Given the description of an element on the screen output the (x, y) to click on. 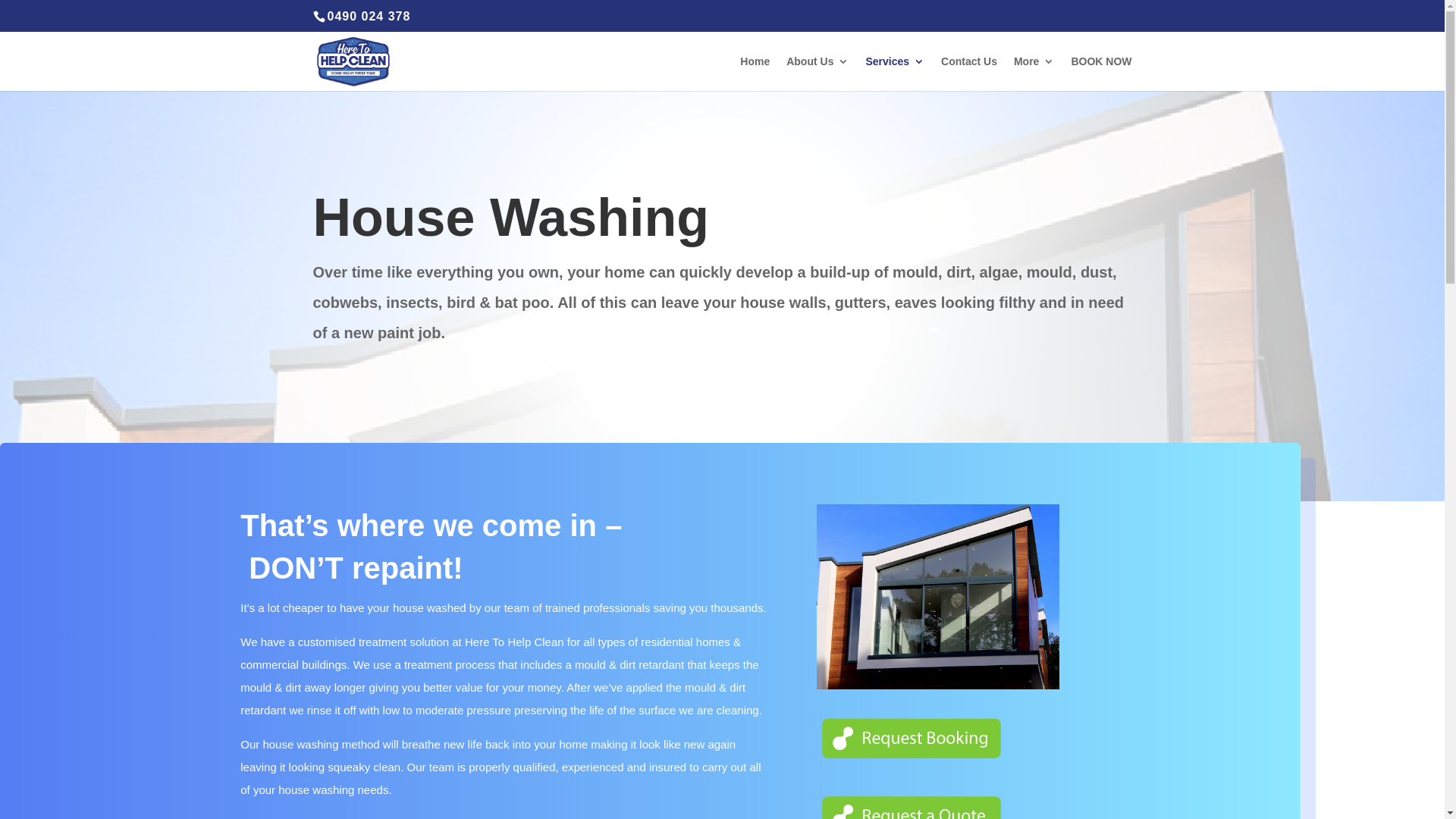
More Element type: text (1033, 73)
Home Element type: text (754, 73)
Contact Us Element type: text (969, 73)
BOOK NOW Element type: text (1100, 73)
Services Element type: text (894, 73)
About Us Element type: text (817, 73)
